Given the description of an element on the screen output the (x, y) to click on. 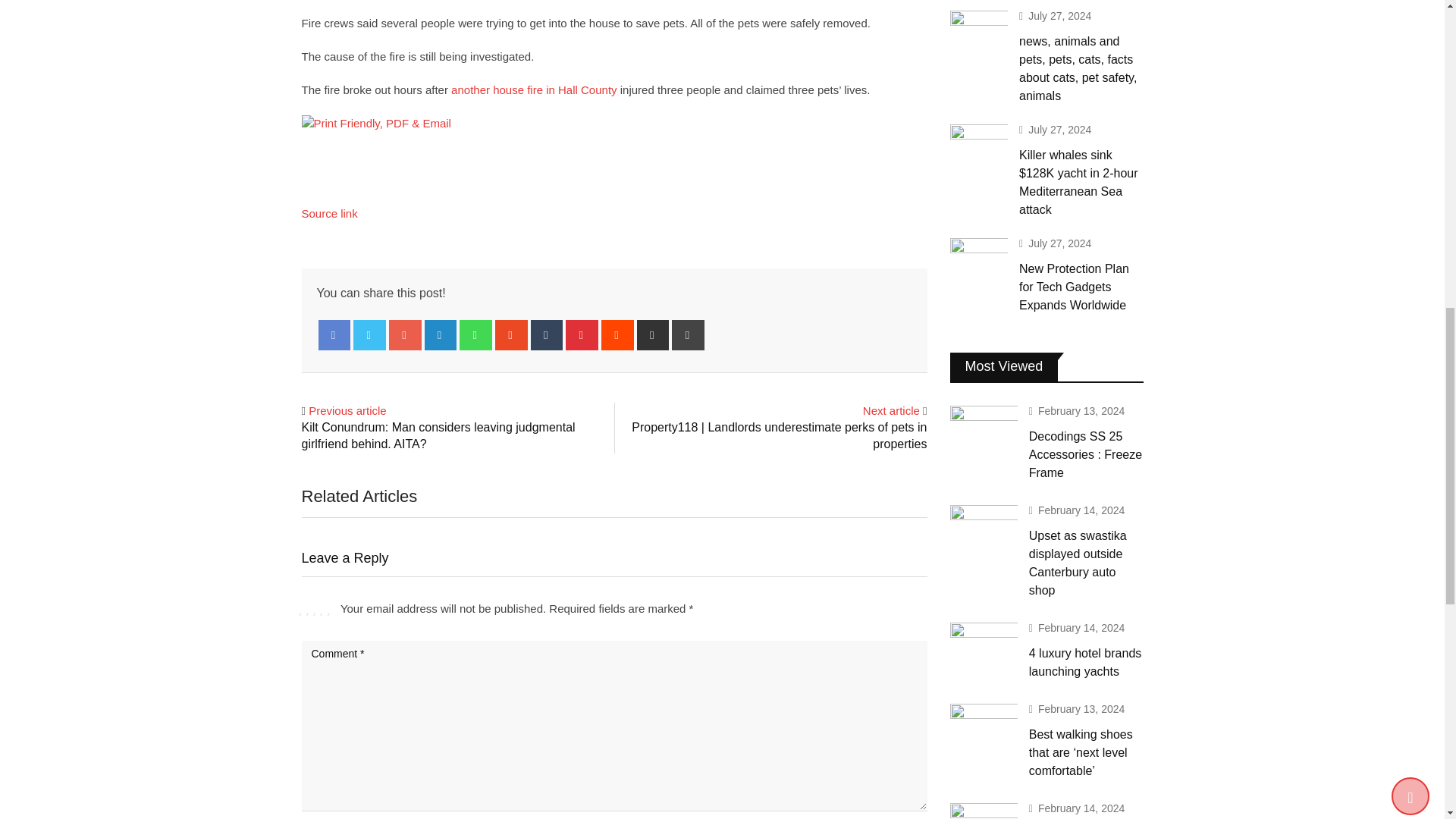
New Protection Plan for Tech Gadgets Expands Worldwide (978, 261)
